Given the description of an element on the screen output the (x, y) to click on. 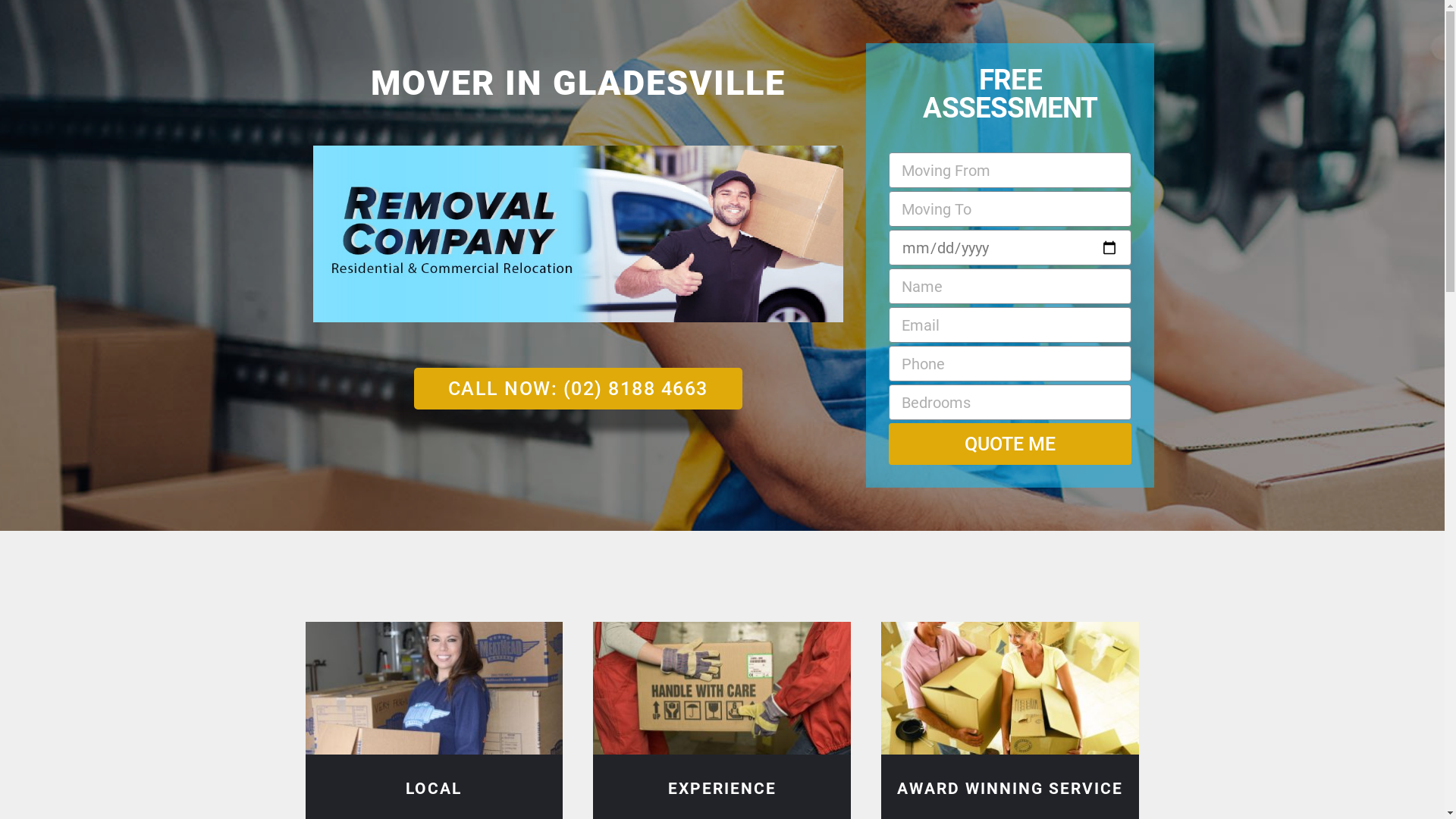
Award Winning Gladesville Removal Services Element type: hover (1010, 687)
CALL NOW: (02) 8188 4663 Element type: text (578, 388)
QUOTE ME Element type: text (1009, 443)
Local Removalists Gladesville Element type: hover (433, 687)
Experienced Removalists in Gladesville Element type: hover (721, 687)
